Given the description of an element on the screen output the (x, y) to click on. 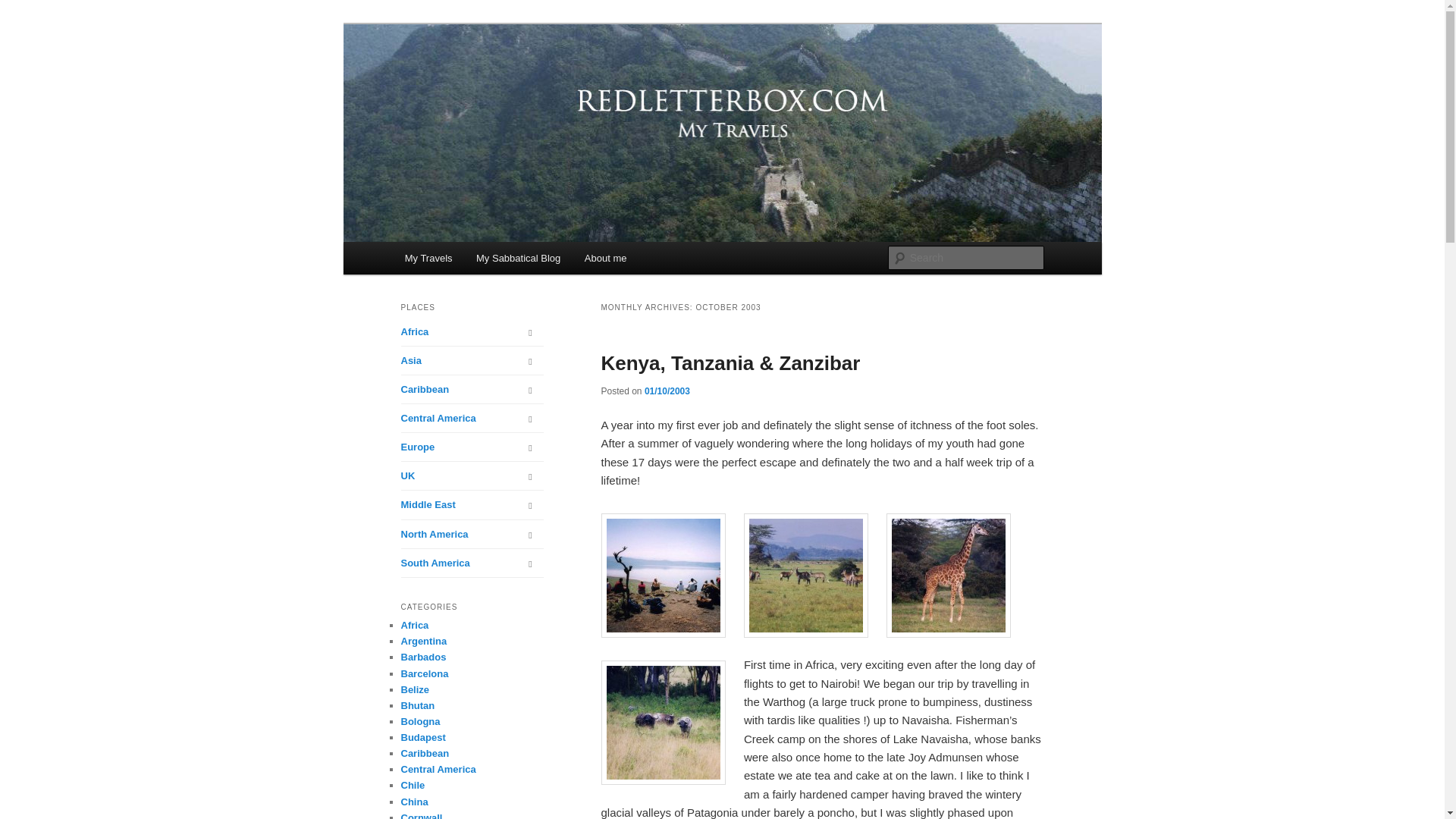
About me (605, 257)
My Sabbatical Blog (518, 257)
My Travels (428, 257)
Africa (471, 331)
brunch overlooking lake Navaisha (662, 575)
buffalo (662, 722)
giraffe (948, 575)
waterbuck (805, 575)
Search (24, 8)
Asia (471, 360)
redletterbox.com (492, 78)
